Given the description of an element on the screen output the (x, y) to click on. 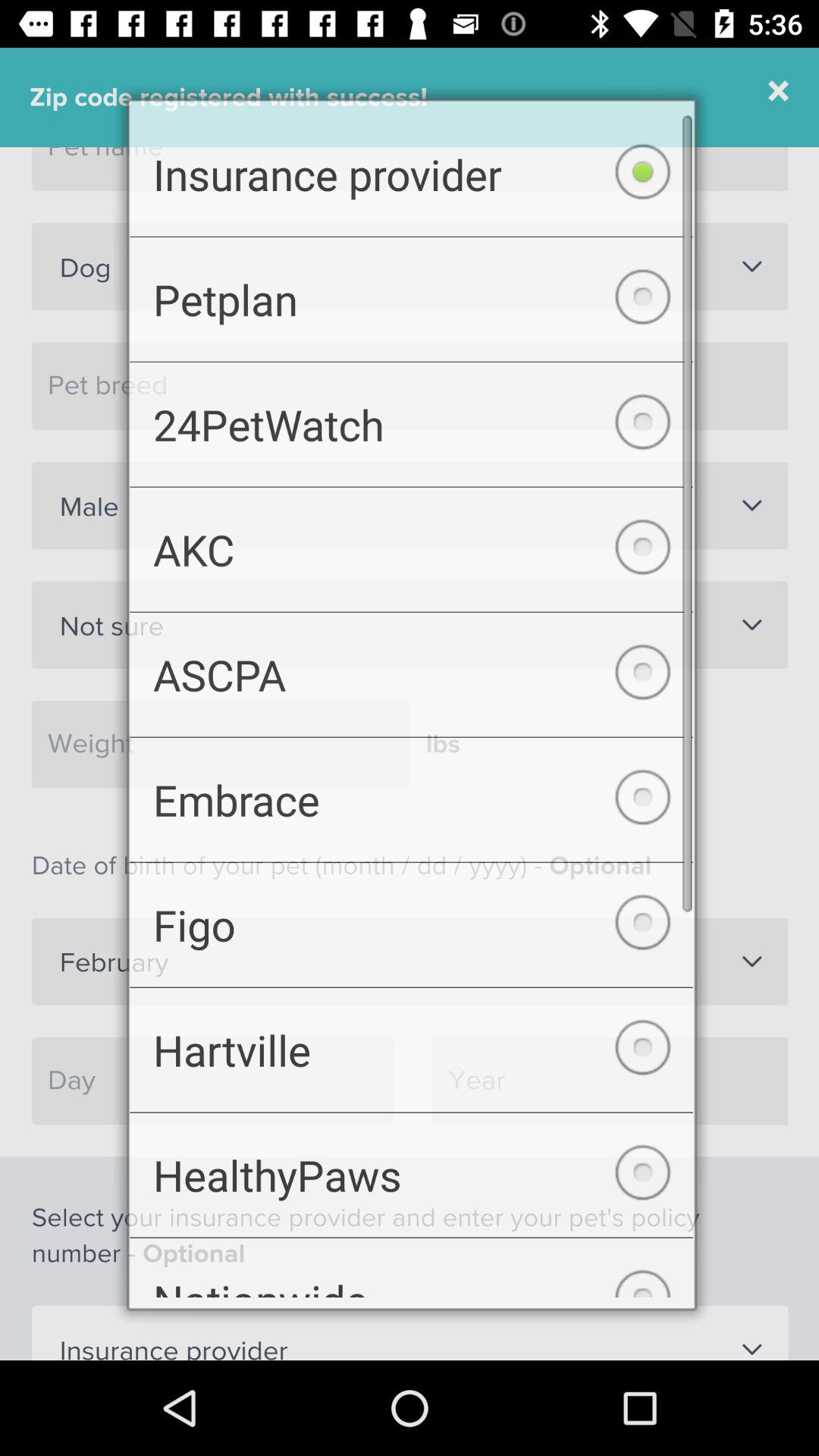
turn off item above ascpa (411, 545)
